Given the description of an element on the screen output the (x, y) to click on. 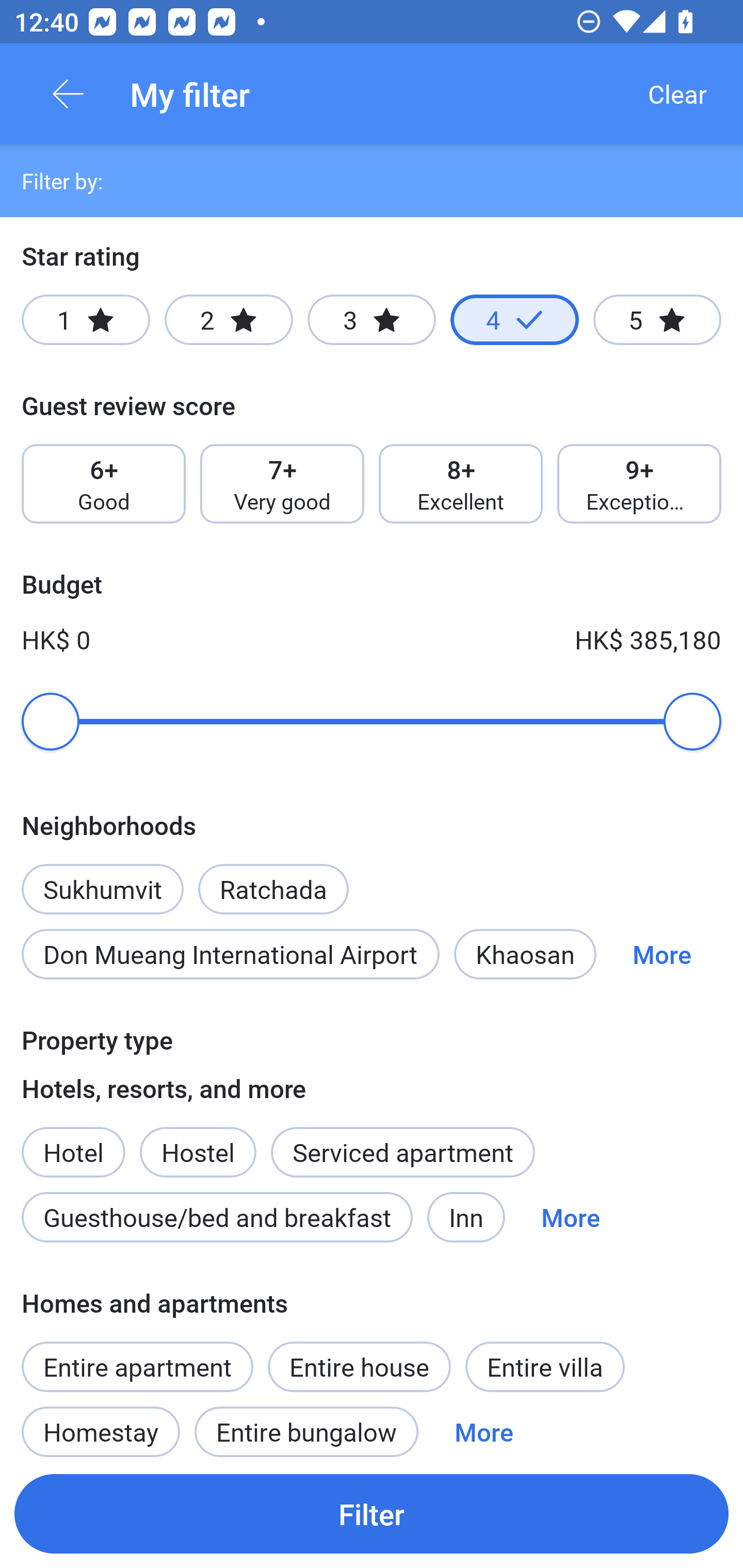
Clear (676, 93)
1 (85, 319)
2 (228, 319)
3 (371, 319)
5 (657, 319)
6+ Good (103, 483)
7+ Very good (281, 483)
8+ Excellent (460, 483)
9+ Exceptional (639, 483)
Sukhumvit (102, 878)
Ratchada (273, 878)
Don Mueang International Airport (230, 954)
Khaosan (524, 954)
More (661, 954)
Hotel (73, 1141)
Hostel (197, 1141)
Serviced apartment (402, 1151)
Guesthouse/bed and breakfast (217, 1217)
Inn (465, 1217)
More (570, 1217)
Entire apartment (137, 1366)
Entire house (359, 1366)
Entire villa (544, 1366)
Homestay (100, 1424)
Entire bungalow (306, 1424)
More (483, 1424)
Filter (371, 1513)
